Given the description of an element on the screen output the (x, y) to click on. 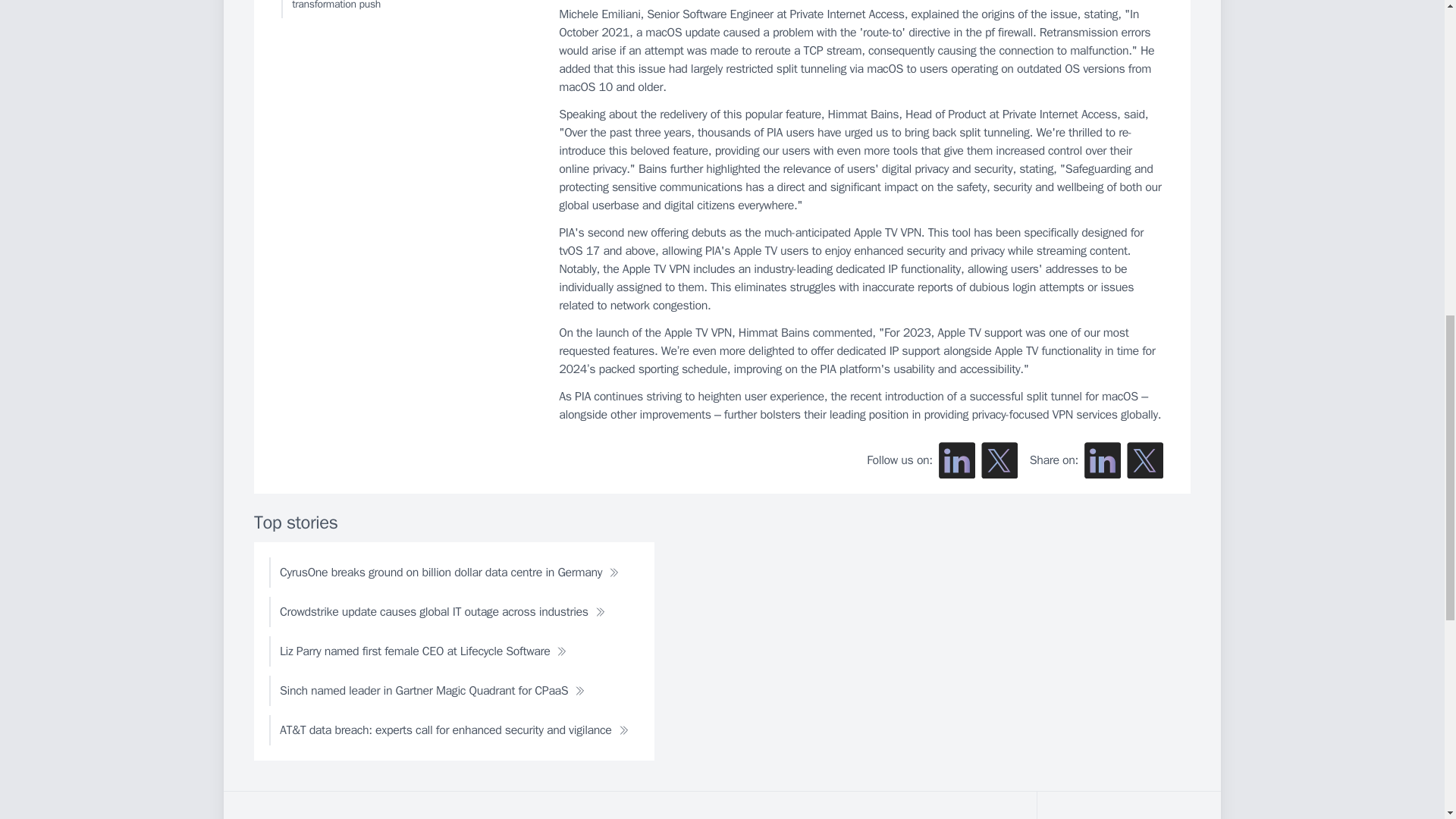
Sinch named leader in Gartner Magic Quadrant for CPaaS (432, 690)
Liz Parry named first female CEO at Lifecycle Software (422, 651)
Crowdstrike update causes global IT outage across industries (442, 612)
